Given the description of an element on the screen output the (x, y) to click on. 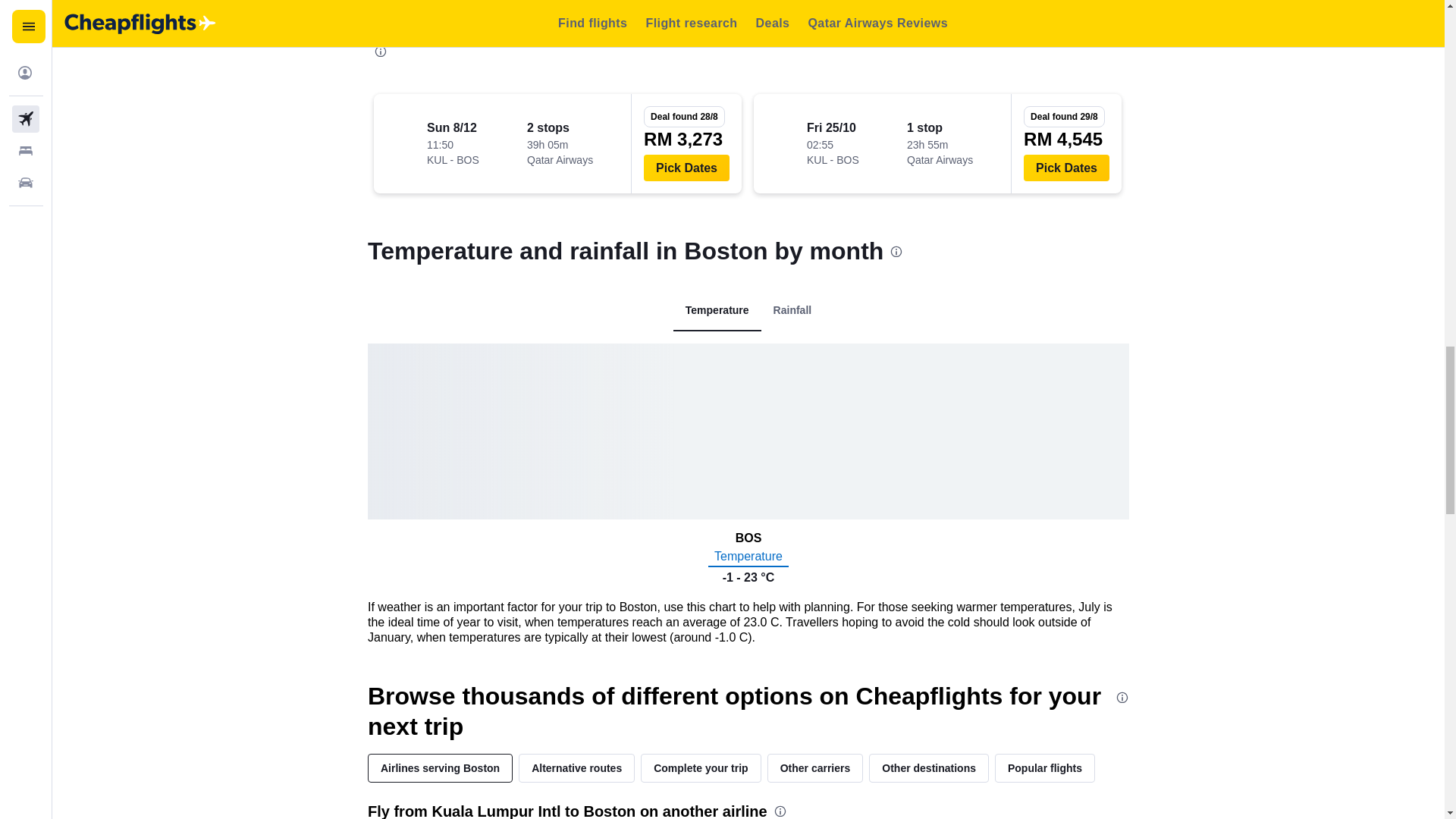
Airlines serving Boston (440, 767)
Alternative routes (576, 767)
Rainfall (792, 310)
Pick Dates (686, 167)
Temperature (716, 310)
Pick Dates (1066, 167)
Other carriers (815, 767)
Other destinations (928, 767)
Popular flights (1044, 767)
Complete your trip (700, 767)
